Given the description of an element on the screen output the (x, y) to click on. 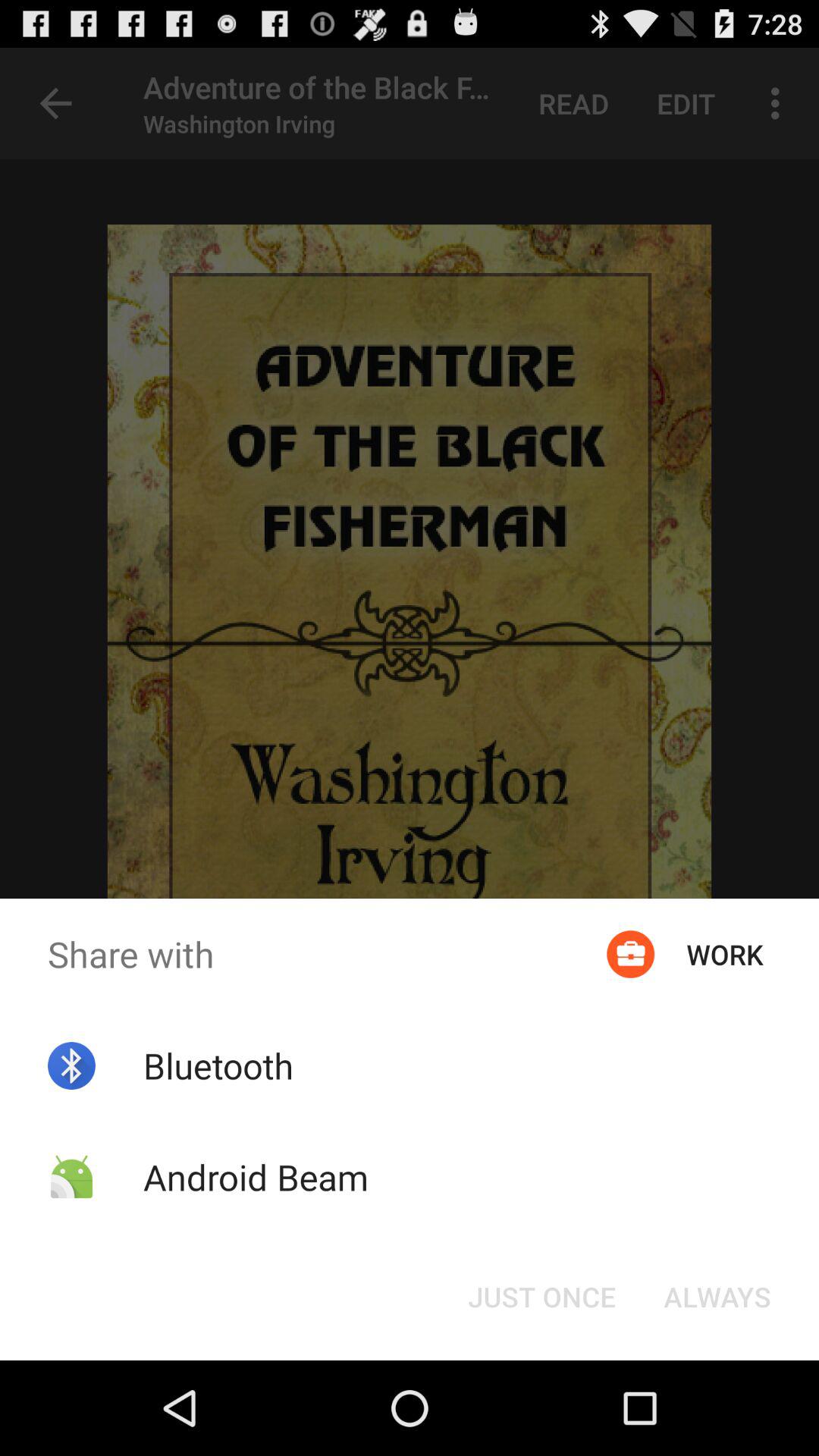
select just once item (541, 1296)
